Given the description of an element on the screen output the (x, y) to click on. 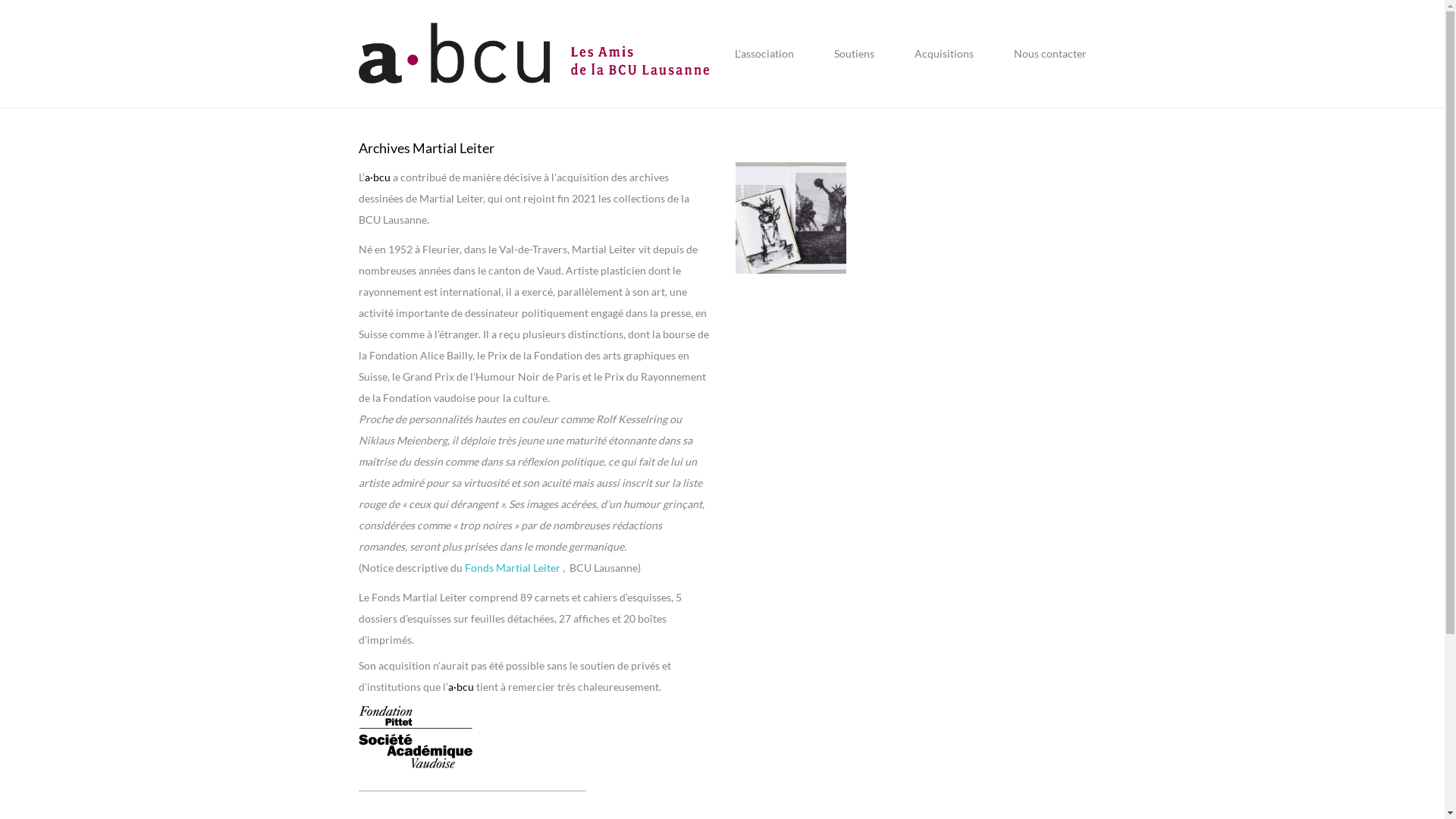
L'association Element type: text (763, 53)
Soutiens Element type: text (853, 53)
Fonds Martial Leiter Element type: text (511, 567)
Nous contacter Element type: text (1040, 53)
Acquisitions Element type: text (942, 53)
